Given the description of an element on the screen output the (x, y) to click on. 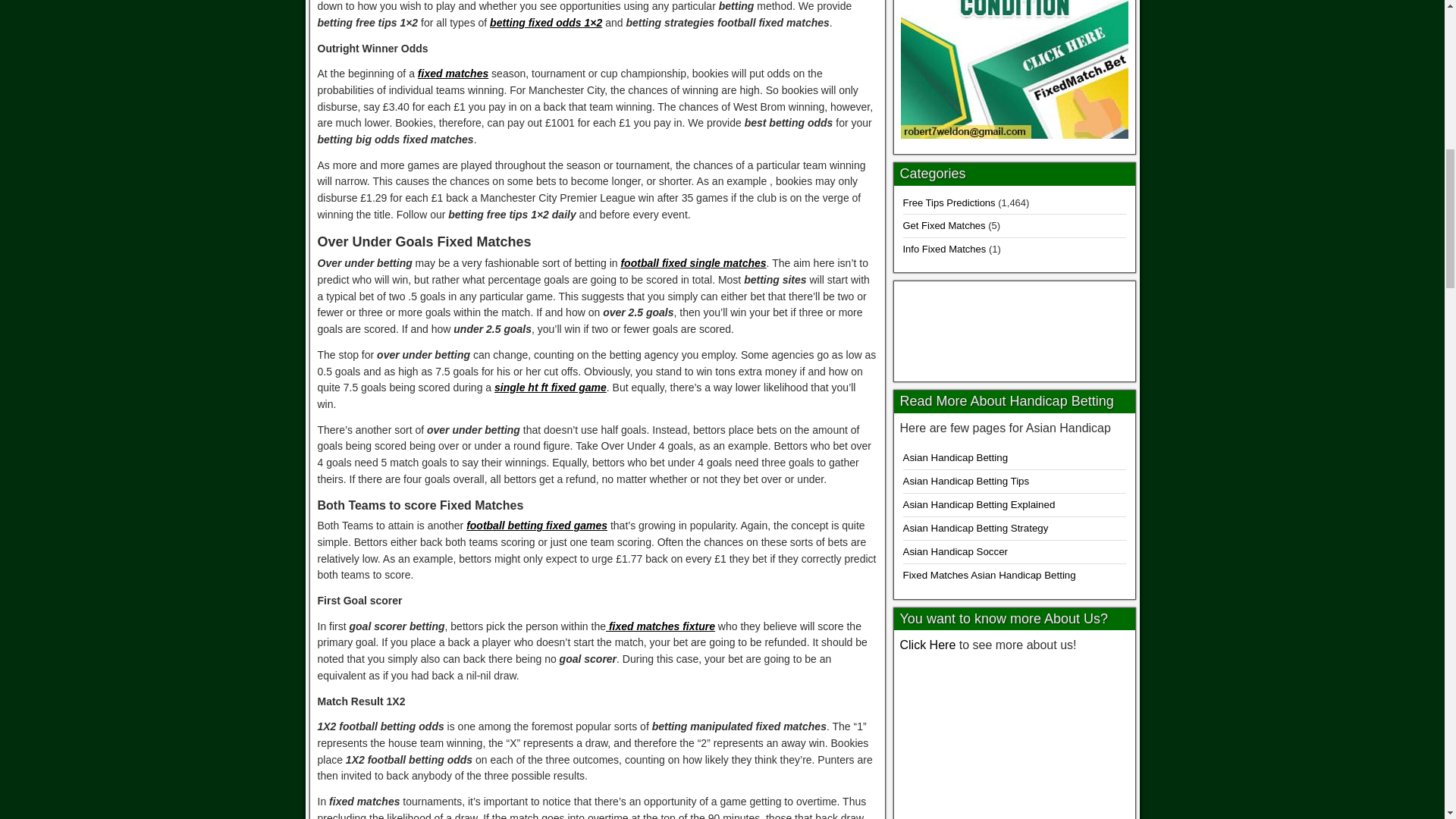
Asian Handicap Betting Strategy (975, 527)
football betting fixed games (536, 525)
single ht ft fixed game (551, 387)
Info Fixed Matches (943, 248)
football fixed single matches (692, 263)
fixed matches fixture (659, 625)
Asian Handicap Betting Explained (978, 504)
fixed matches (452, 73)
fixed matches 1x2 (1014, 328)
Free Tips Predictions (948, 202)
